Given the description of an element on the screen output the (x, y) to click on. 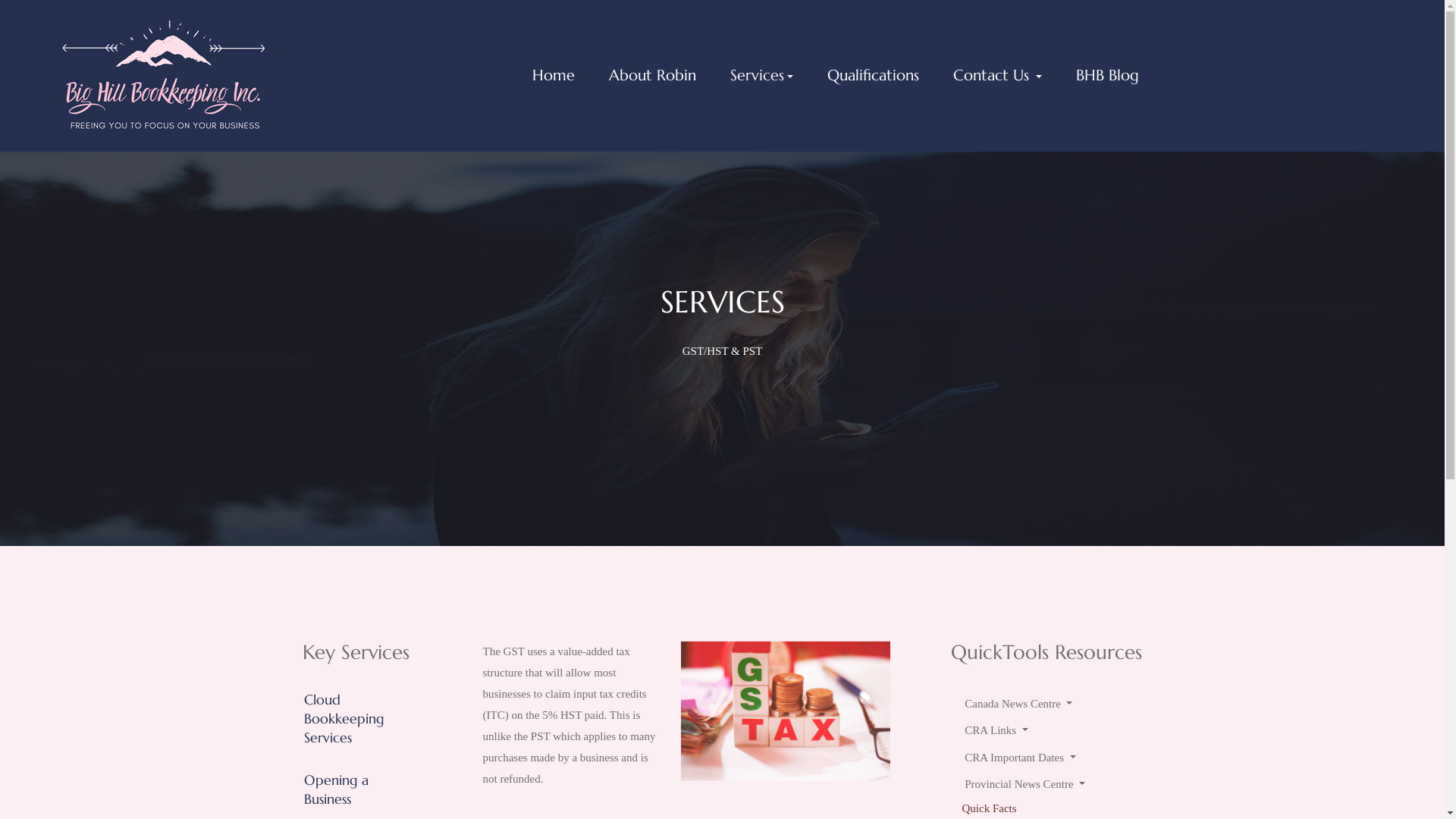
Cloud Bookkeeping Services Element type: text (343, 718)
Opening a Business Element type: text (335, 789)
BHB Blog Element type: text (1107, 75)
Qualifications Element type: text (872, 75)
Home Element type: text (552, 75)
Big Hill Bookkeeping Element type: hover (162, 73)
Services Element type: text (760, 75)
About Robin Element type: text (651, 75)
